Given the description of an element on the screen output the (x, y) to click on. 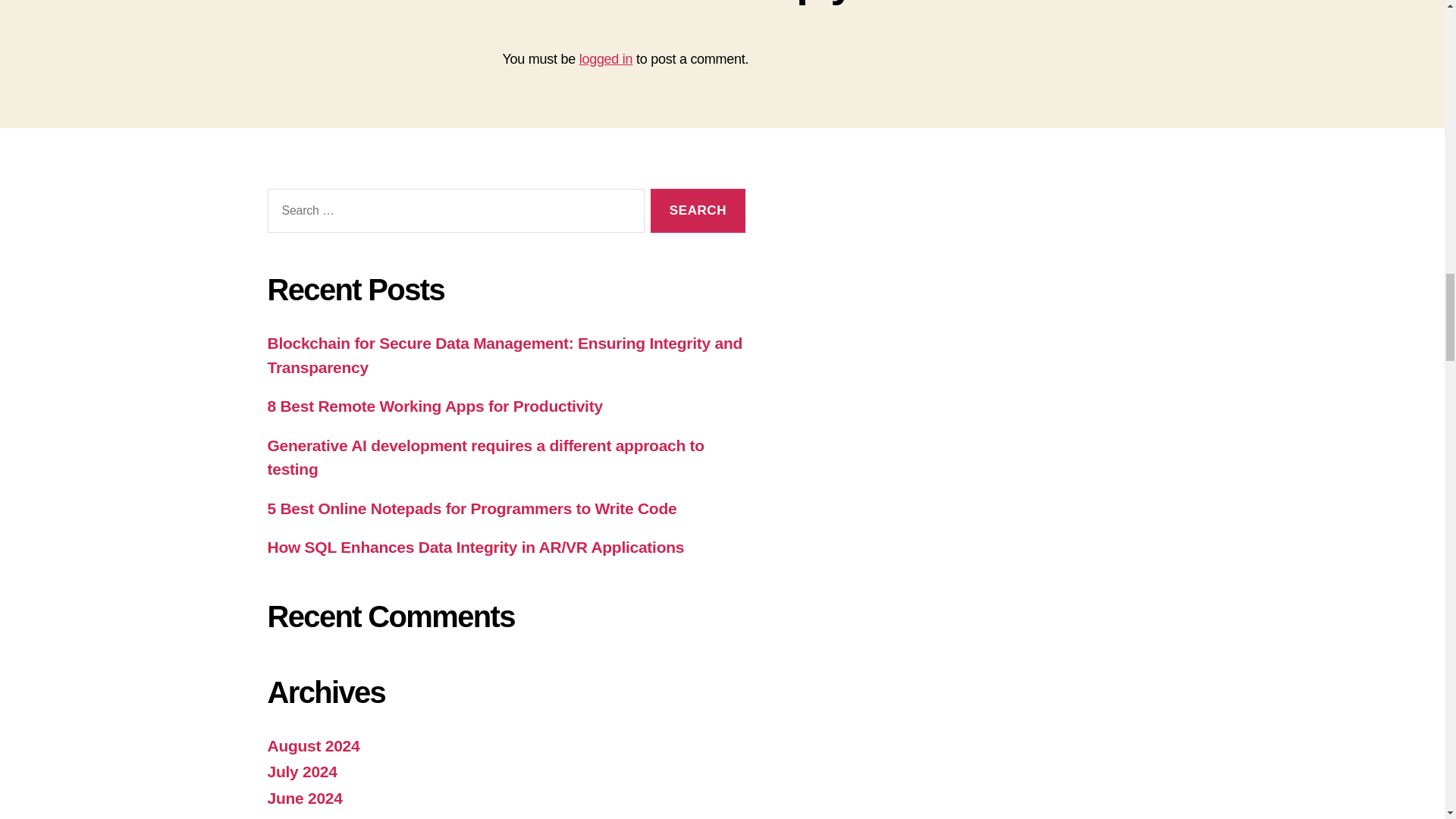
logged in (606, 58)
8 Best Remote Working Apps for Productivity (434, 405)
Search (697, 211)
Search (697, 211)
June 2024 (304, 797)
Search (697, 211)
July 2024 (301, 771)
August 2024 (312, 745)
May 2024 (301, 816)
